Given the description of an element on the screen output the (x, y) to click on. 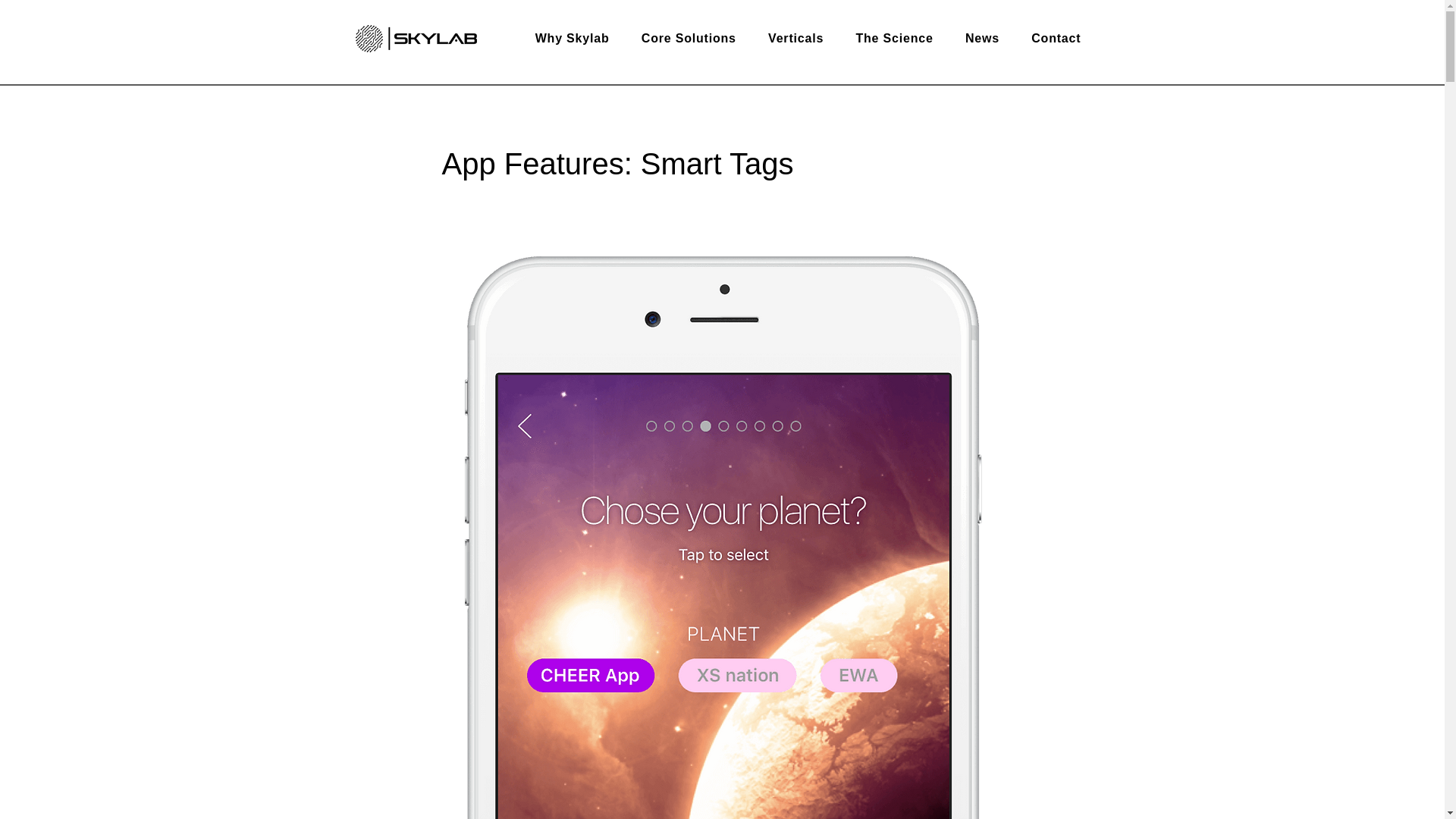
Contact (1055, 38)
Verticals (795, 38)
News (981, 38)
The Science (894, 38)
